Given the description of an element on the screen output the (x, y) to click on. 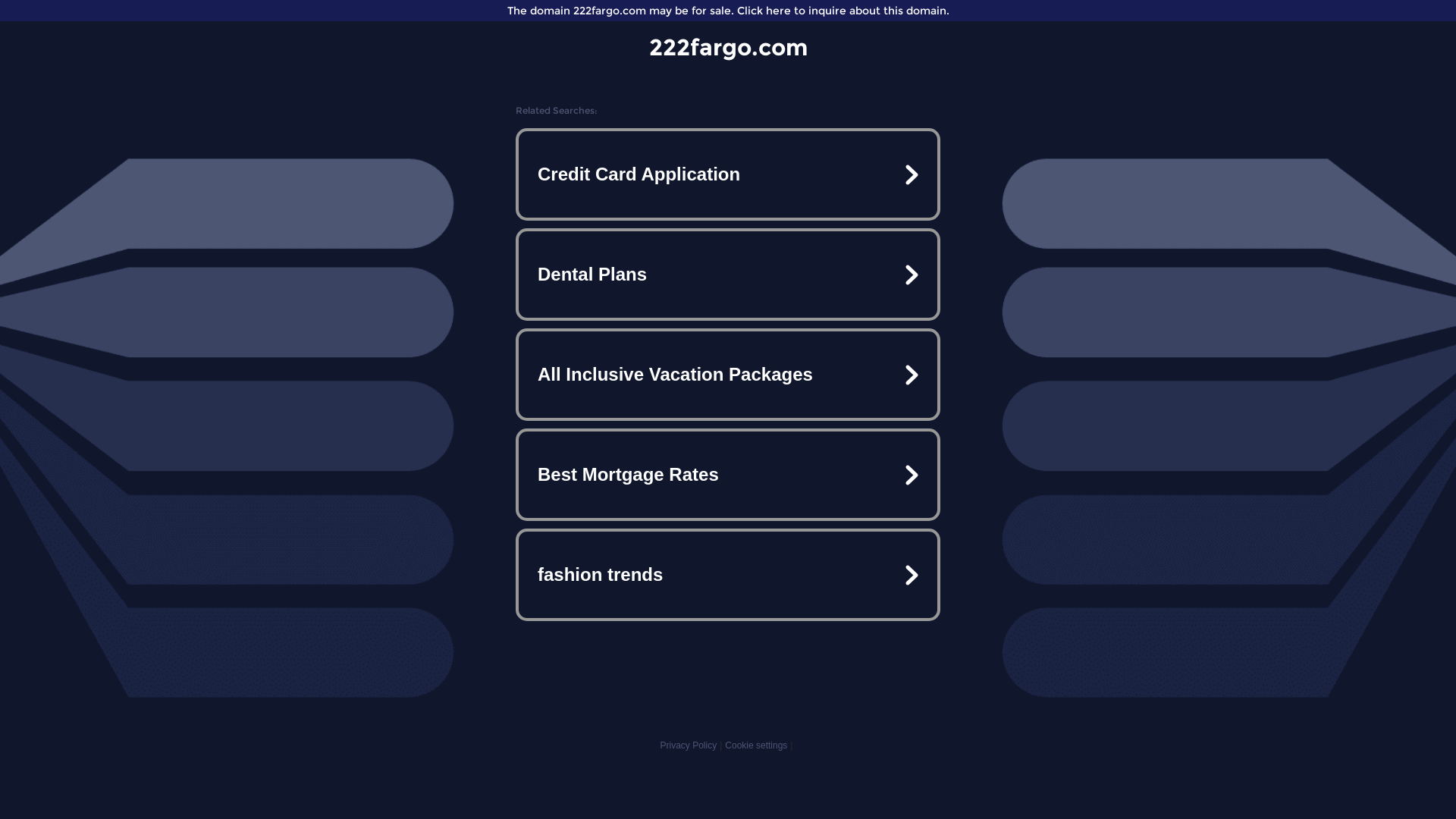
All Inclusive Vacation Packages Element type: text (727, 374)
Dental Plans Element type: text (727, 274)
Credit Card Application Element type: text (727, 174)
fashion trends Element type: text (727, 574)
222fargo.com Element type: text (728, 47)
Privacy Policy Element type: text (687, 745)
Best Mortgage Rates Element type: text (727, 474)
Cookie settings Element type: text (755, 745)
